Given the description of an element on the screen output the (x, y) to click on. 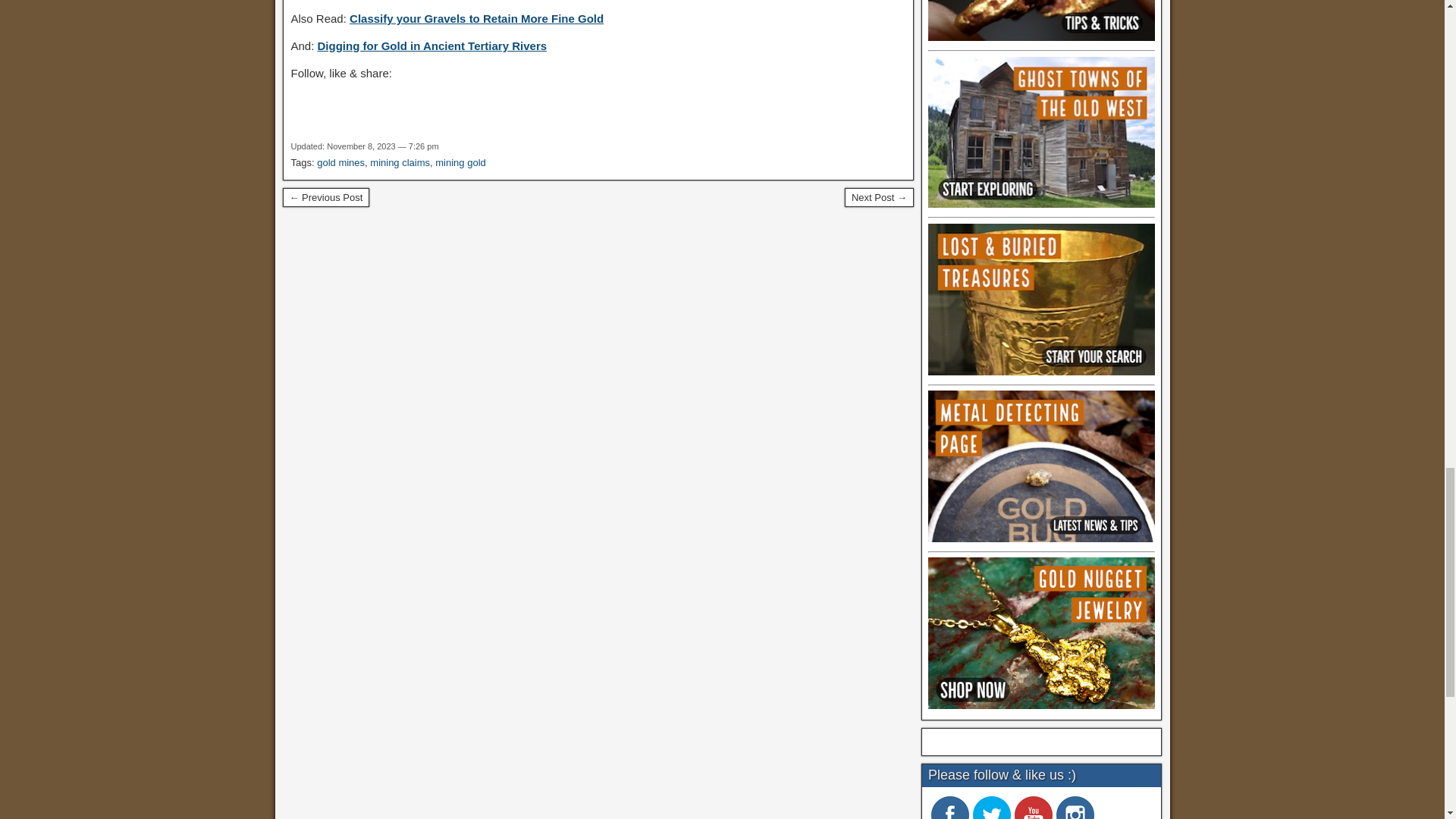
Classify your Gravels to Retain More Fine Gold (476, 18)
Heavy Snow and Rain Help Gold Prospectors (325, 198)
FACEBOOK (950, 807)
YOUTUBE (1033, 807)
Classify your Gravels to Retain More Fine Gold (476, 18)
gold mines (341, 162)
TWITTER (991, 807)
Focus Prospecting Efforts on Fine Gold Placers (879, 198)
mining gold (460, 162)
mining claims (399, 162)
Digging for Gold in Ancient Tertiary Rivers (432, 45)
INSTAGRAM (1075, 807)
Digging for Gold in Ancient Tertiary Rivers (432, 45)
